Given the description of an element on the screen output the (x, y) to click on. 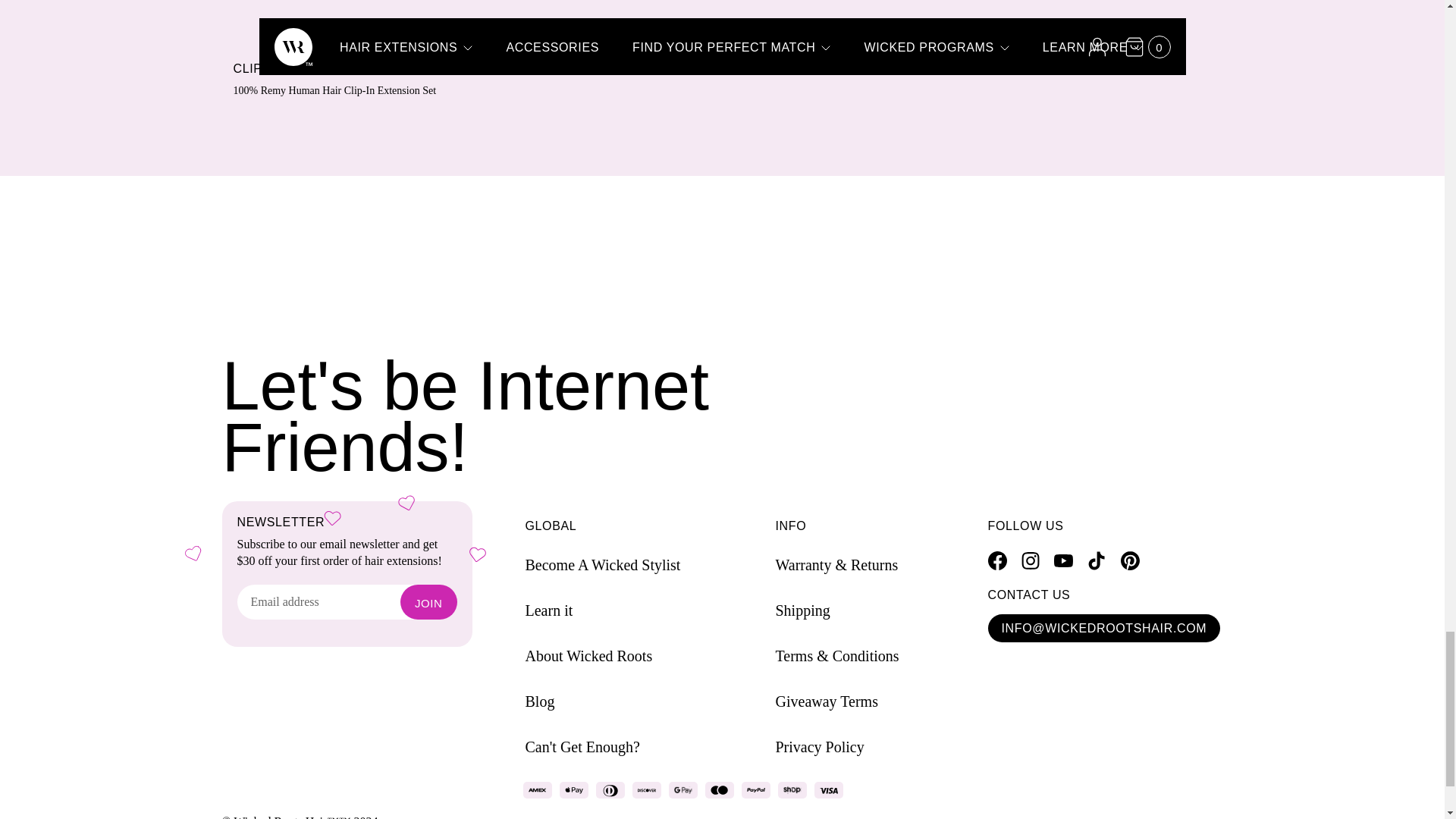
Heart (331, 516)
Heart (193, 553)
Heart (405, 502)
